Given the description of an element on the screen output the (x, y) to click on. 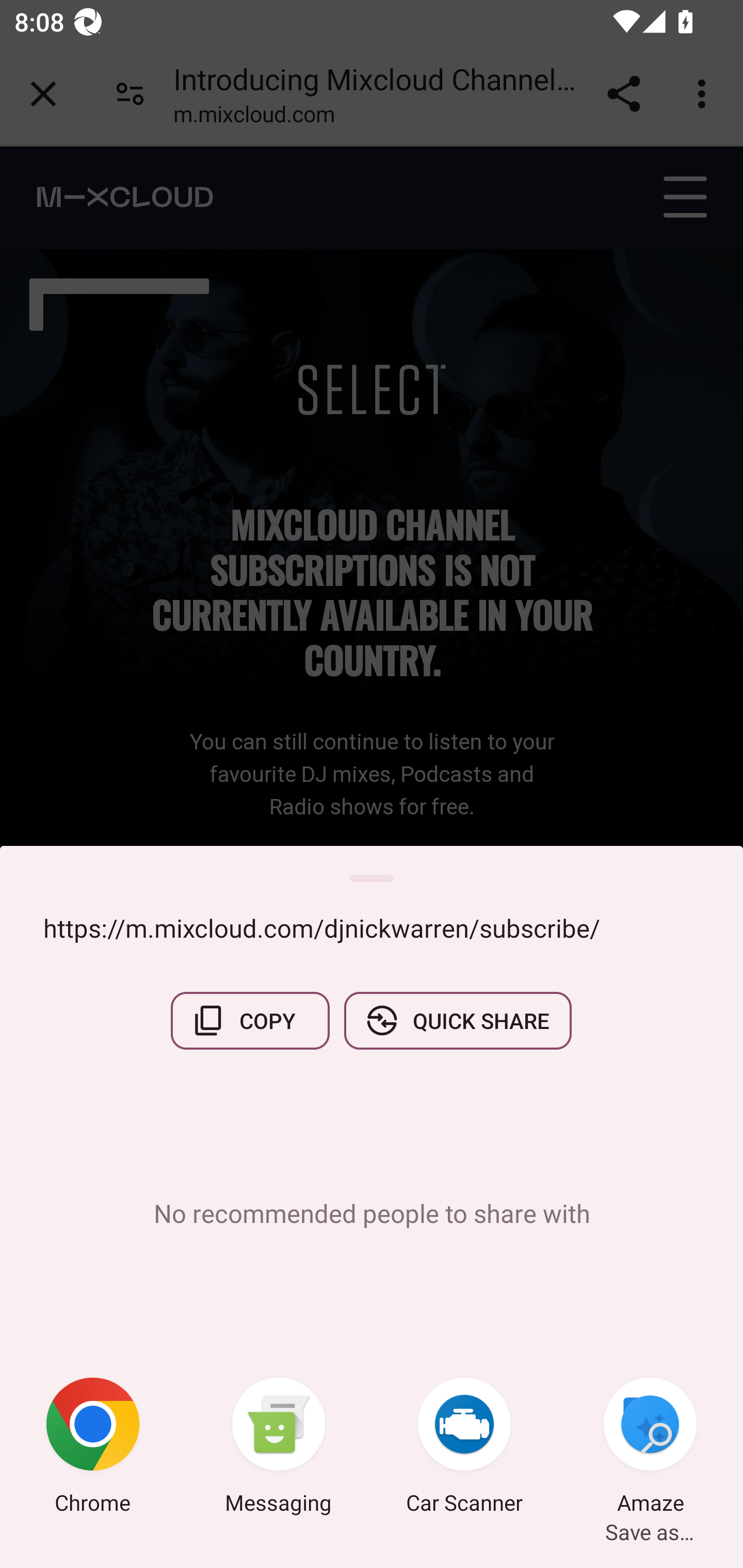
COPY (249, 1020)
QUICK SHARE (457, 1020)
Chrome (92, 1448)
Messaging (278, 1448)
Car Scanner (464, 1448)
Amaze Save as… (650, 1448)
